Given the description of an element on the screen output the (x, y) to click on. 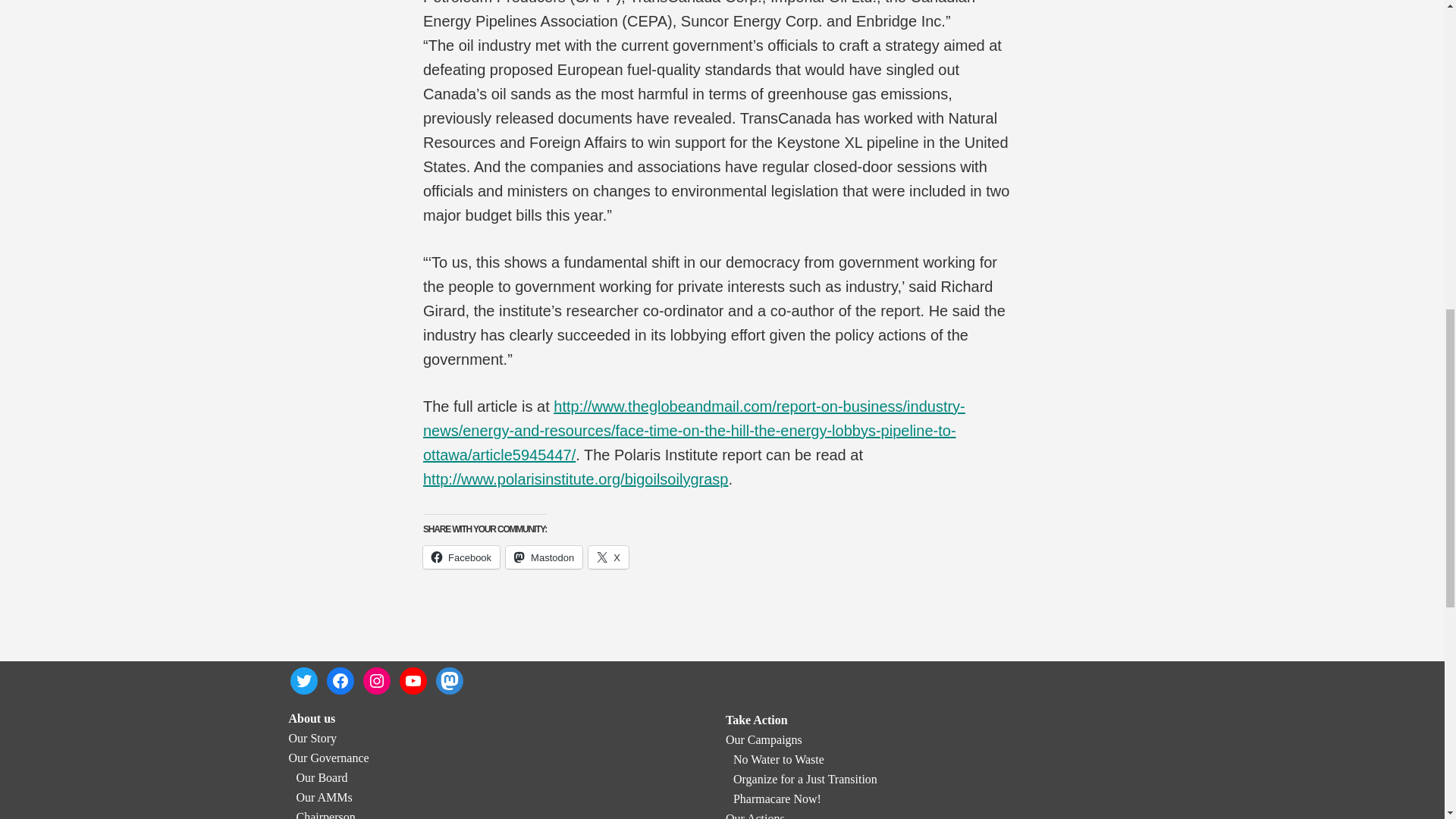
X (608, 557)
Mastodon (543, 557)
Our Governance (328, 757)
Click to share on Facebook (461, 557)
Our Story (312, 738)
Chairperson (325, 814)
Click to share on X (608, 557)
About us (311, 717)
Facebook (461, 557)
Our Board (321, 777)
